Given the description of an element on the screen output the (x, y) to click on. 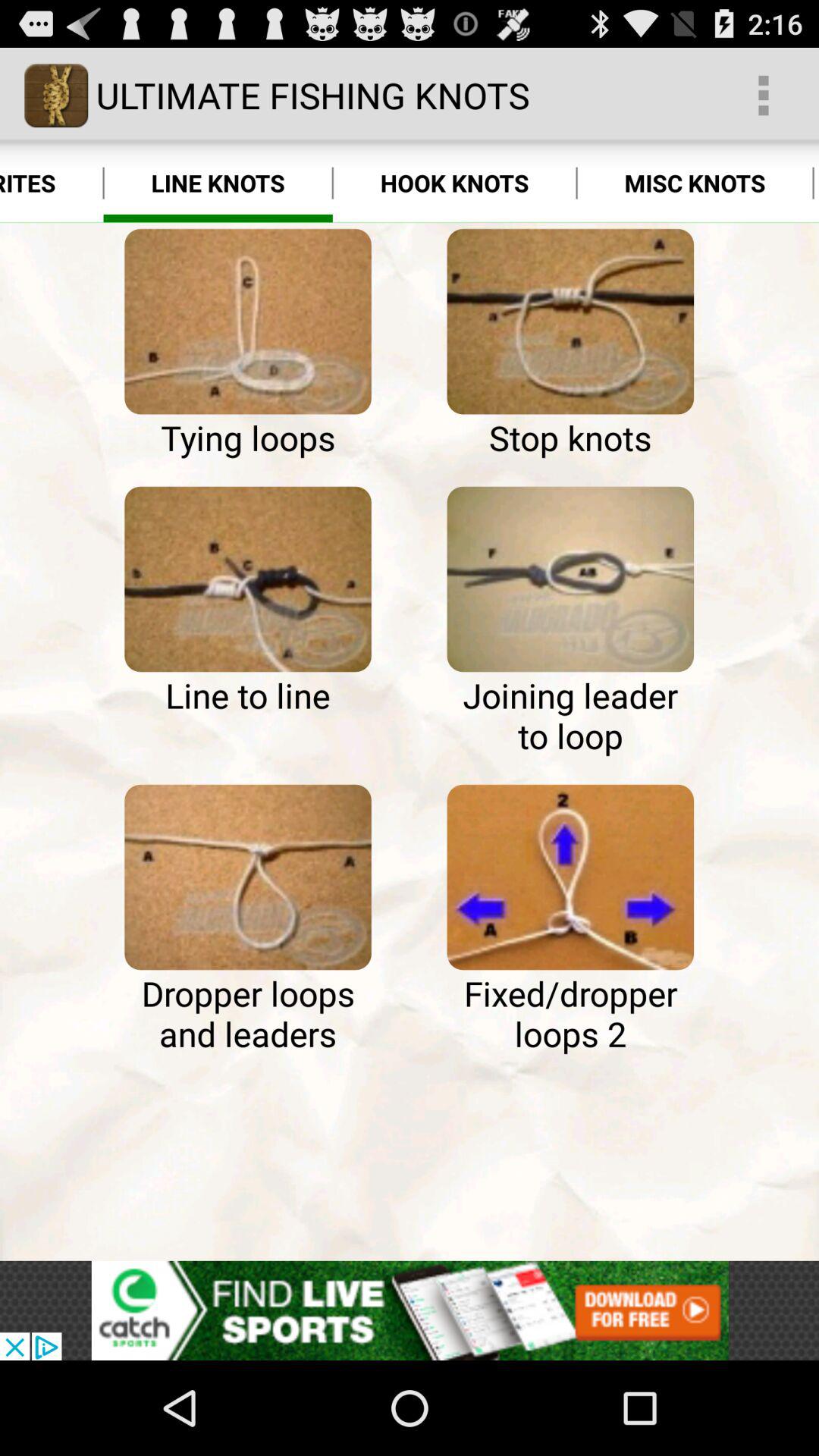
open the specific instructions (247, 876)
